Given the description of an element on the screen output the (x, y) to click on. 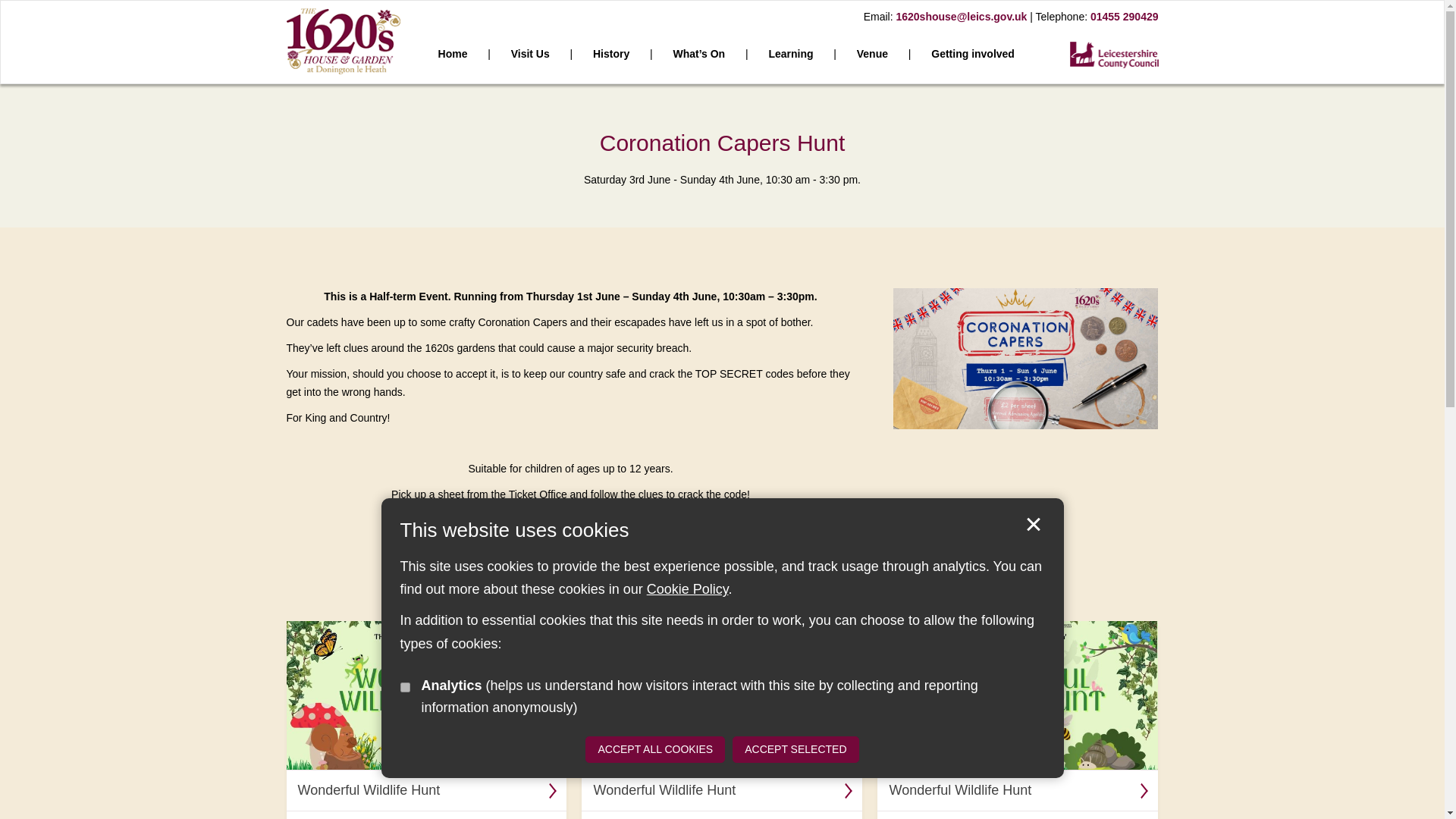
01455 290429 (1124, 16)
stats (405, 687)
Donnington Le Heath (343, 39)
Donnington Le Heath (343, 41)
